Given the description of an element on the screen output the (x, y) to click on. 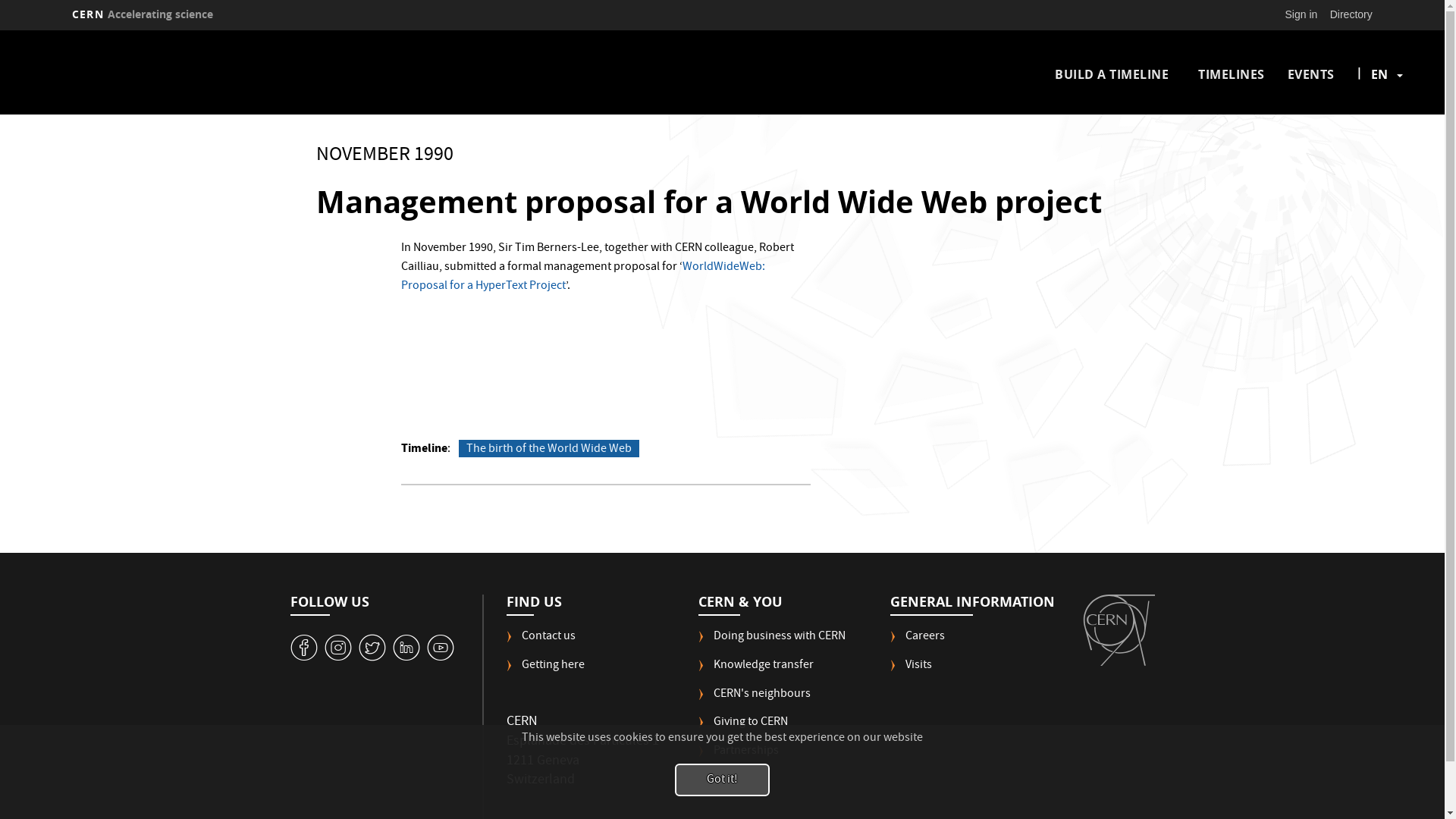
WorldWideWeb: Proposal for a HyperText Project Element type: text (583, 276)
TIMELINES Element type: text (1231, 74)
|
EN Element type: text (1379, 73)
v Element type: text (302, 647)
Alumni Element type: text (723, 785)
Getting here Element type: text (545, 671)
W Element type: text (371, 647)
CERN Accelerating science Element type: text (142, 14)
1 Element type: text (439, 647)
Doing business with CERN Element type: text (771, 642)
Contact us Element type: text (540, 642)
Visits Element type: text (910, 671)
Knowledge transfer Element type: text (755, 671)
J Element type: text (337, 647)
Sign in Element type: text (1301, 14)
The birth of the World Wide Web Element type: text (548, 448)
M Element type: text (406, 647)
BUILD A TIMELINE Element type: text (1111, 74)
CERN's neighbours Element type: text (754, 700)
Directory Element type: text (1351, 14)
Giving to CERN Element type: text (742, 728)
Skip to main content Element type: text (0, 30)
Careers Element type: text (917, 642)
EVENTS Element type: text (1310, 74)
Partnerships Element type: text (738, 757)
Got it! Element type: text (721, 779)
CERN Element type: hover (1118, 629)
